Given the description of an element on the screen output the (x, y) to click on. 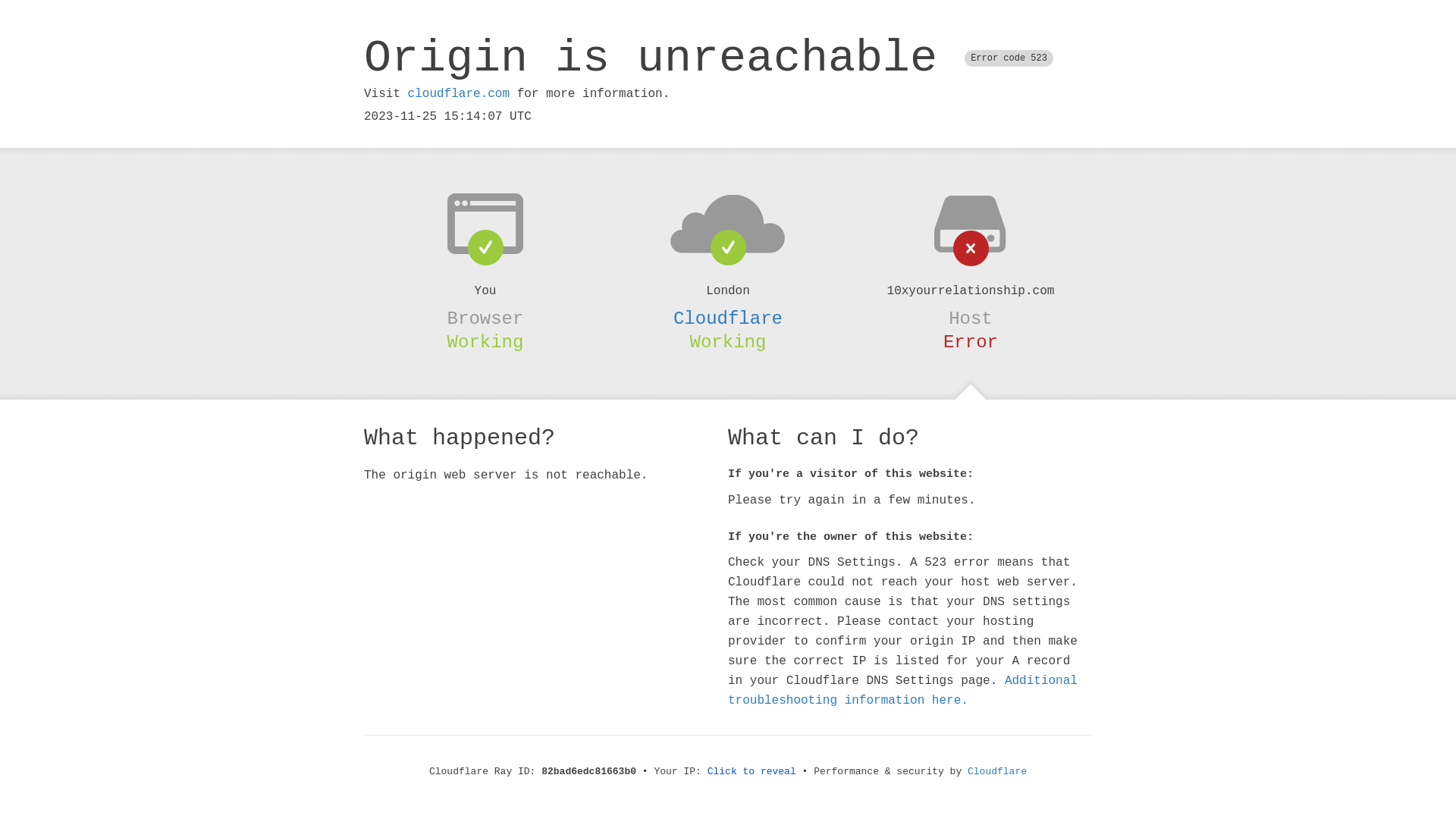
Cloudflare Element type: text (727, 318)
Additional troubleshooting information here. Element type: text (902, 690)
cloudflare.com Element type: text (458, 93)
Click to reveal Element type: text (751, 771)
Cloudflare Element type: text (996, 771)
